Given the description of an element on the screen output the (x, y) to click on. 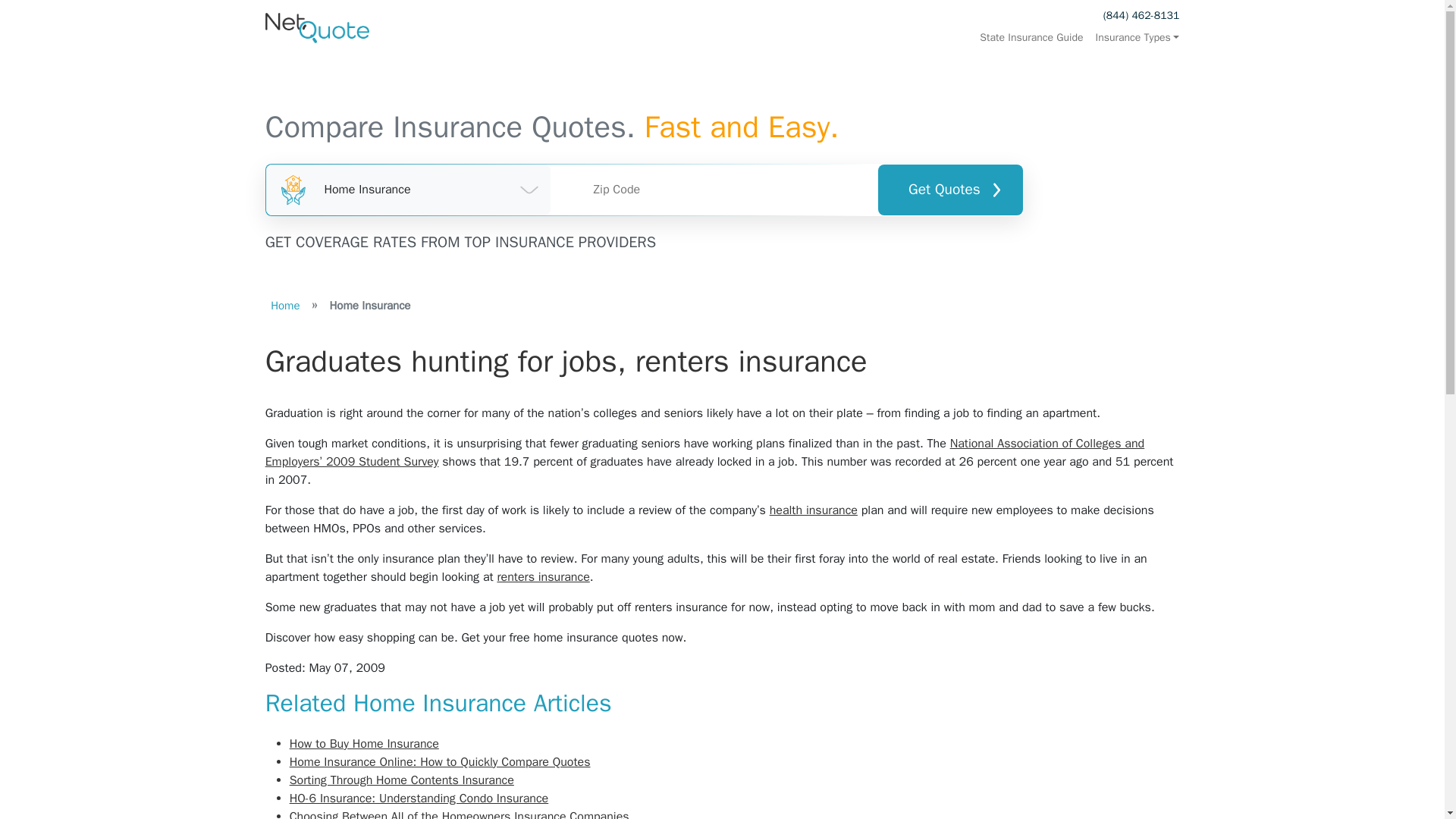
Insurance Types (1134, 37)
Home Insurance Online: How to Quickly Compare Quotes (440, 761)
Sorting Through Home Contents Insurance (401, 780)
State Insurance Guide (1031, 37)
HO-6 Insurance: Understanding Condo Insurance (418, 798)
Home Insurance (408, 189)
health insurance (813, 509)
Get Quotes (949, 189)
How to Buy Home Insurance (364, 743)
Call for Quotes (1141, 15)
Choosing Between All of the Homeowners Insurance Companies (458, 814)
renters insurance (542, 576)
Home (284, 305)
